Given the description of an element on the screen output the (x, y) to click on. 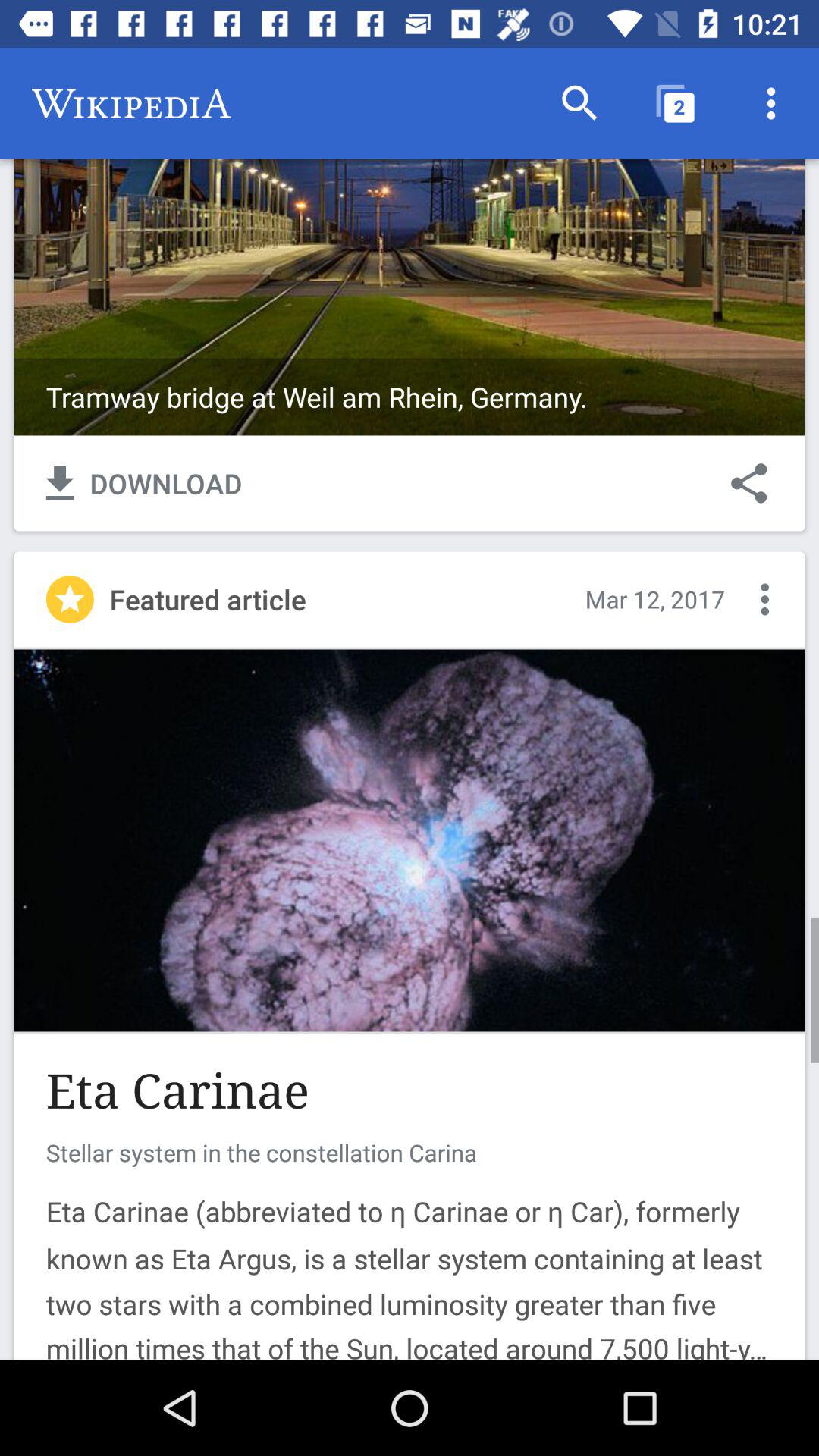
choose the item above tramway bridge at icon (675, 103)
